Given the description of an element on the screen output the (x, y) to click on. 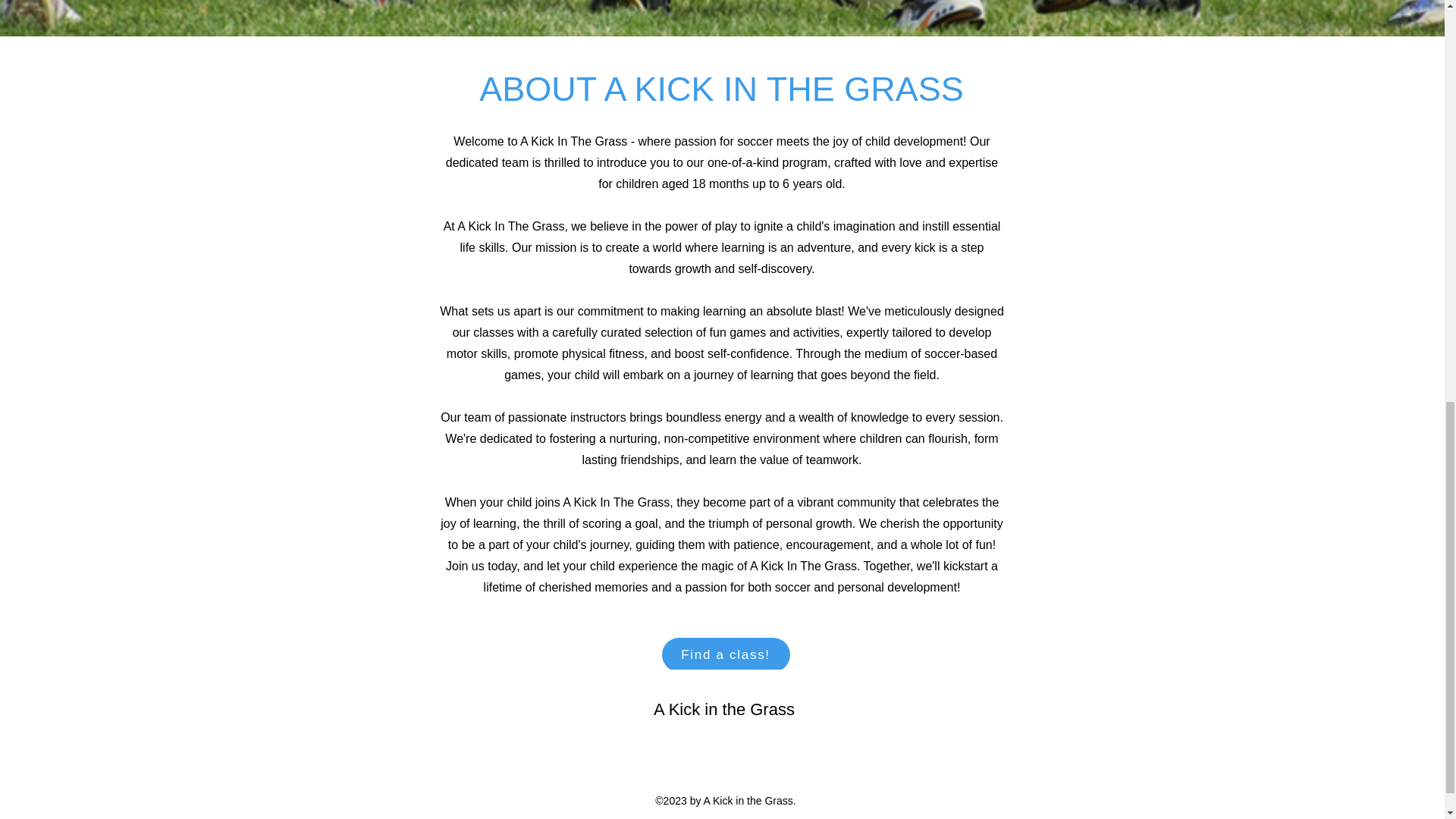
Find a class! (725, 654)
